Given the description of an element on the screen output the (x, y) to click on. 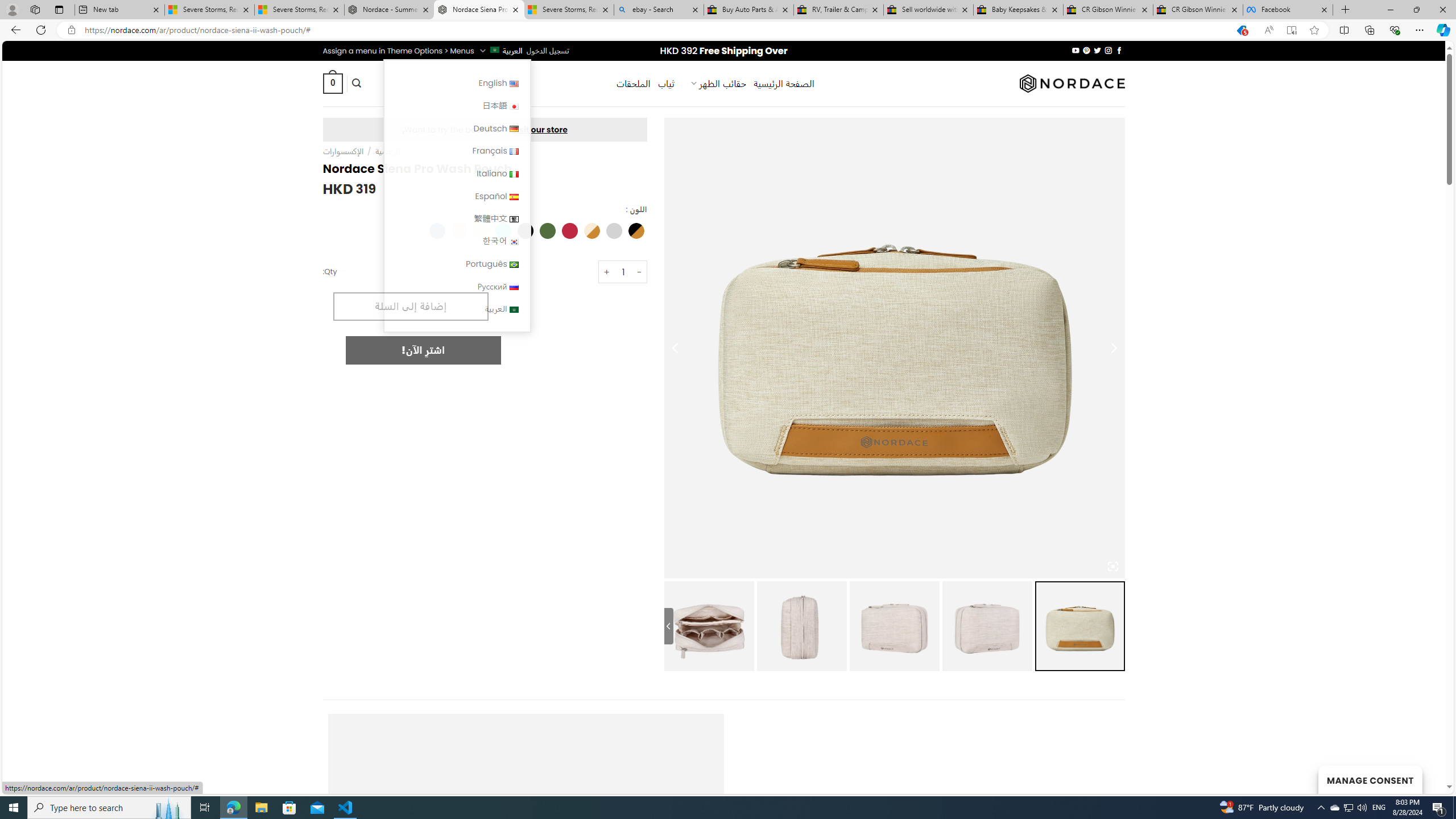
Deutsch  (456, 128)
